Given the description of an element on the screen output the (x, y) to click on. 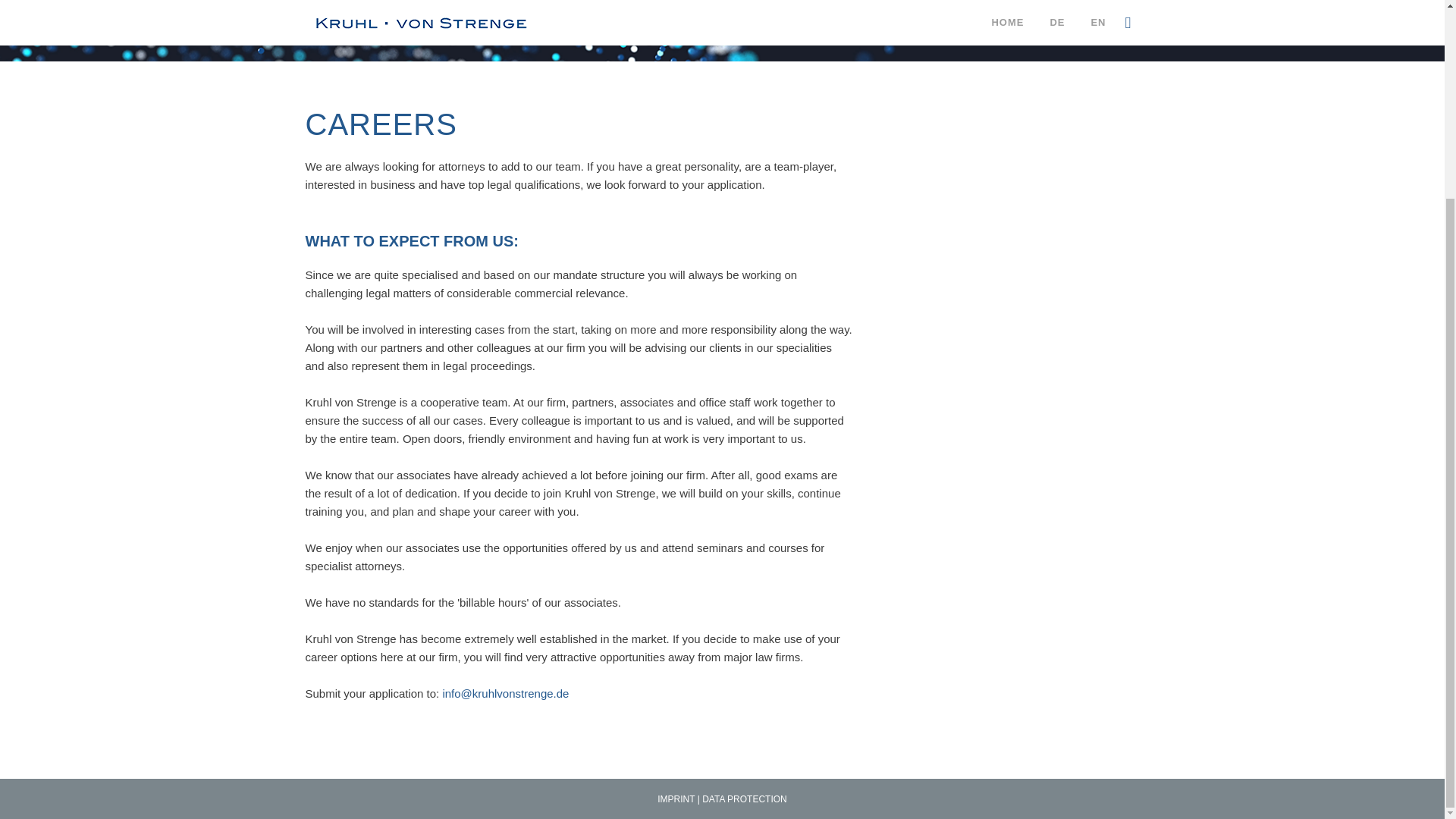
DATA PROTECTION (744, 798)
IMPRINT (676, 798)
